Given the description of an element on the screen output the (x, y) to click on. 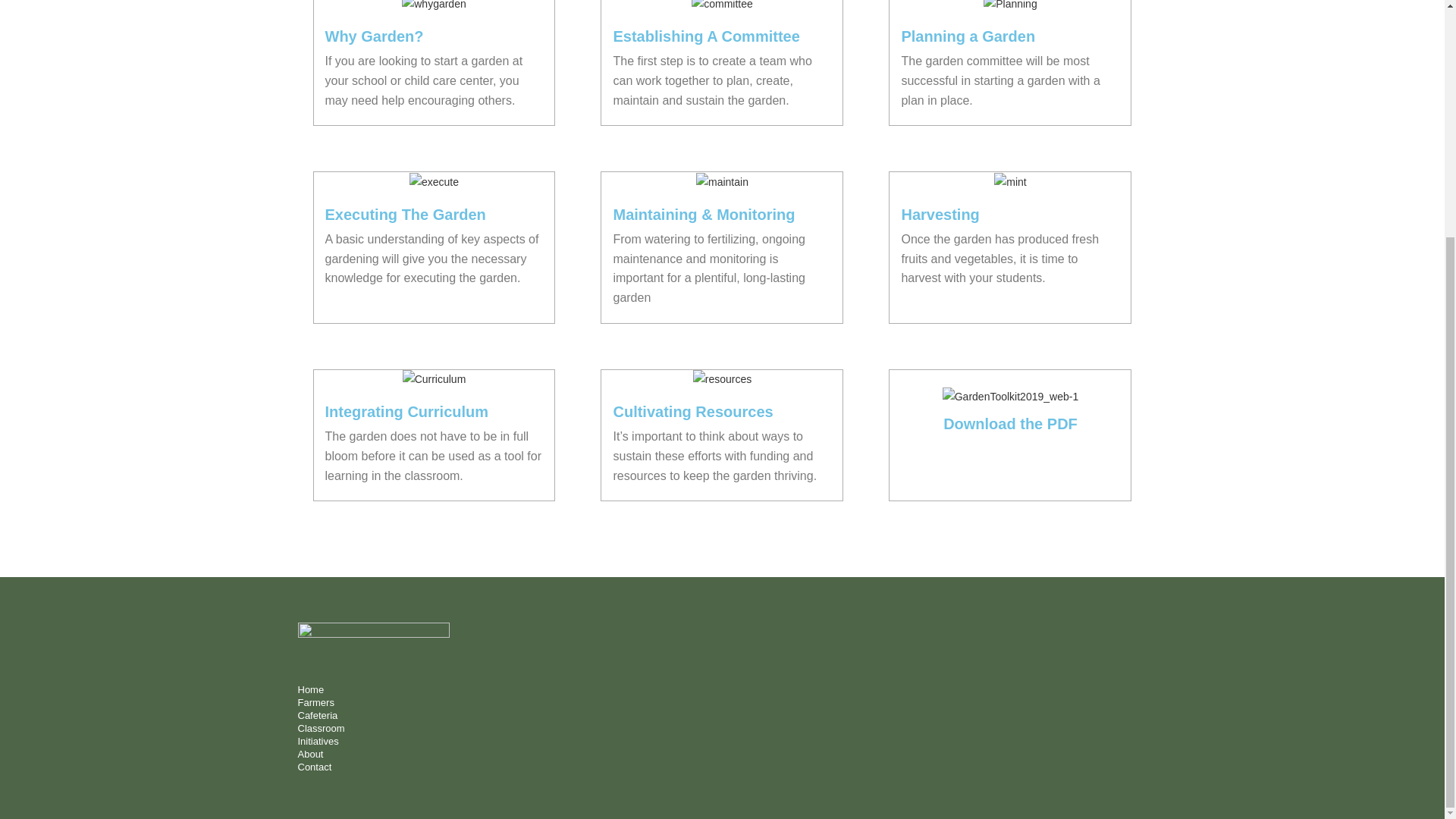
committee (721, 6)
mint (1010, 181)
Curriculum (434, 379)
resources (722, 379)
Planning (1010, 6)
maintain (721, 181)
execute (433, 181)
whygarden (433, 6)
